Given the description of an element on the screen output the (x, y) to click on. 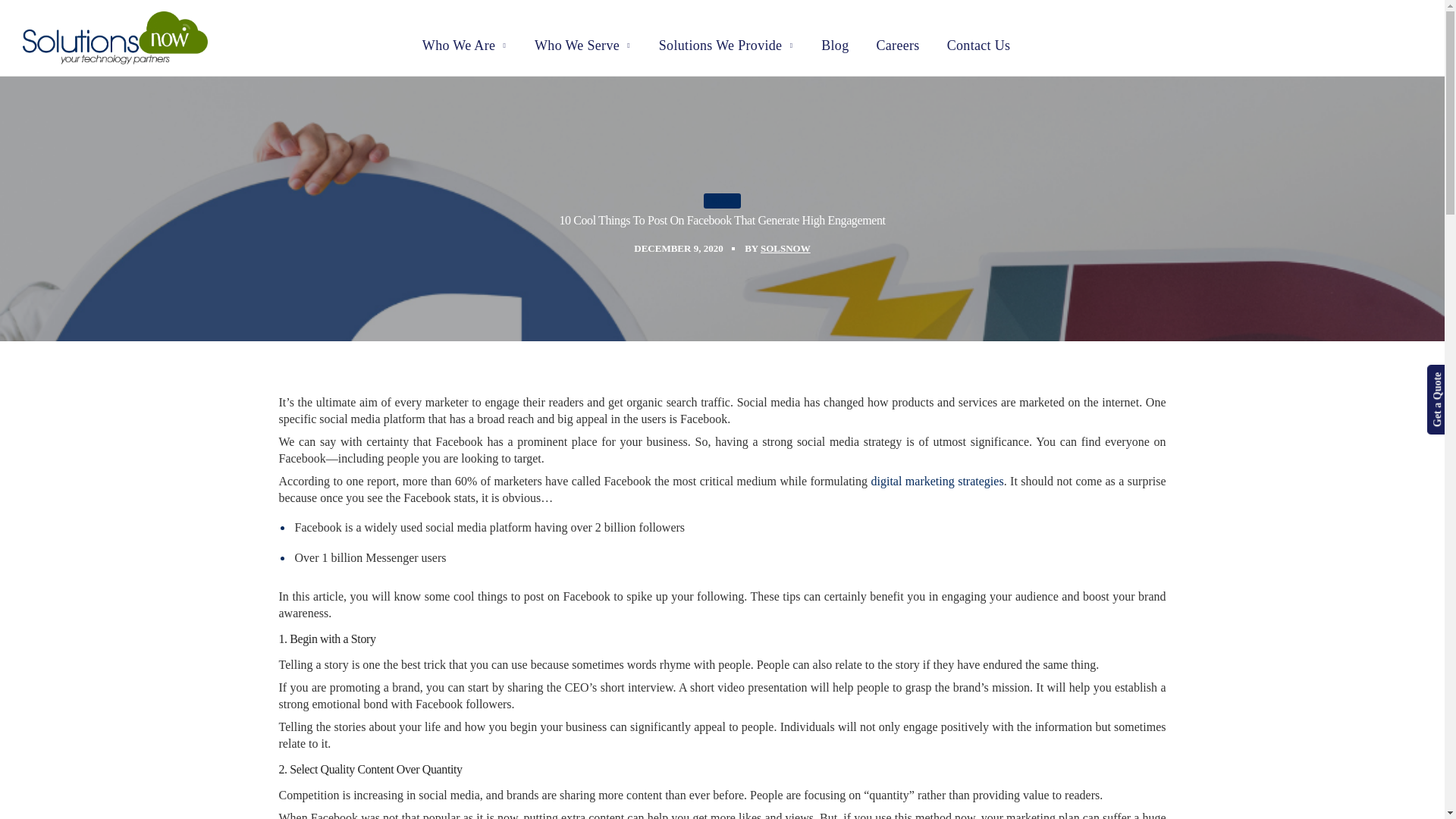
Who We Serve (583, 45)
Careers (897, 45)
972-914-2991 (63, 18)
Who We Are (465, 45)
Contact Us (979, 45)
Solutions We Provide (726, 45)
